Given the description of an element on the screen output the (x, y) to click on. 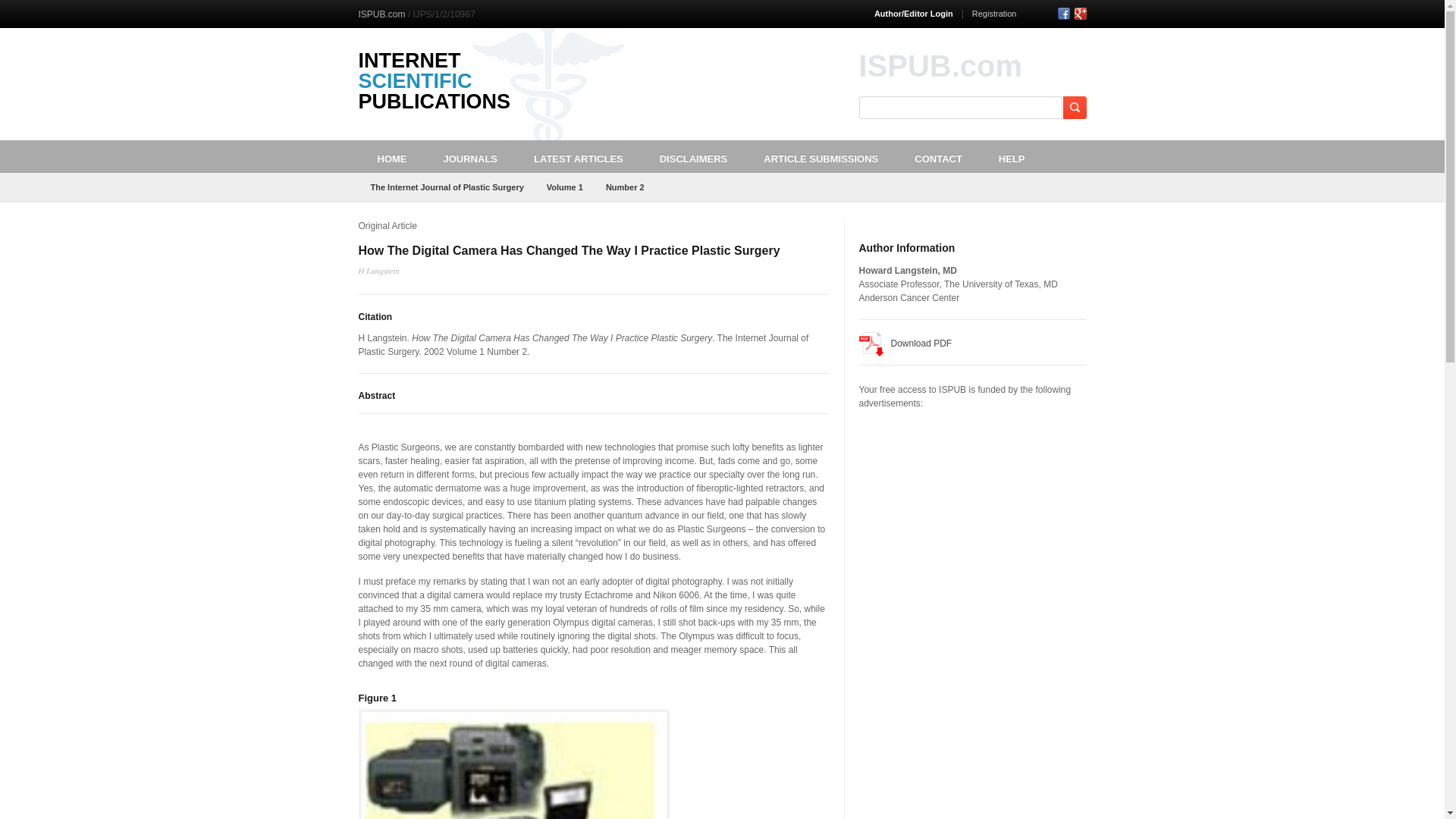
DISCLAIMERS (693, 156)
HELP (1011, 156)
Number 2 (625, 187)
LATEST ARTICLES (578, 156)
The Internet Journal of Plastic Surgery (446, 187)
HOME (391, 156)
Volume 1 (564, 187)
Download PDF (905, 344)
ISPUB.com (381, 14)
JOURNALS (470, 156)
